Given the description of an element on the screen output the (x, y) to click on. 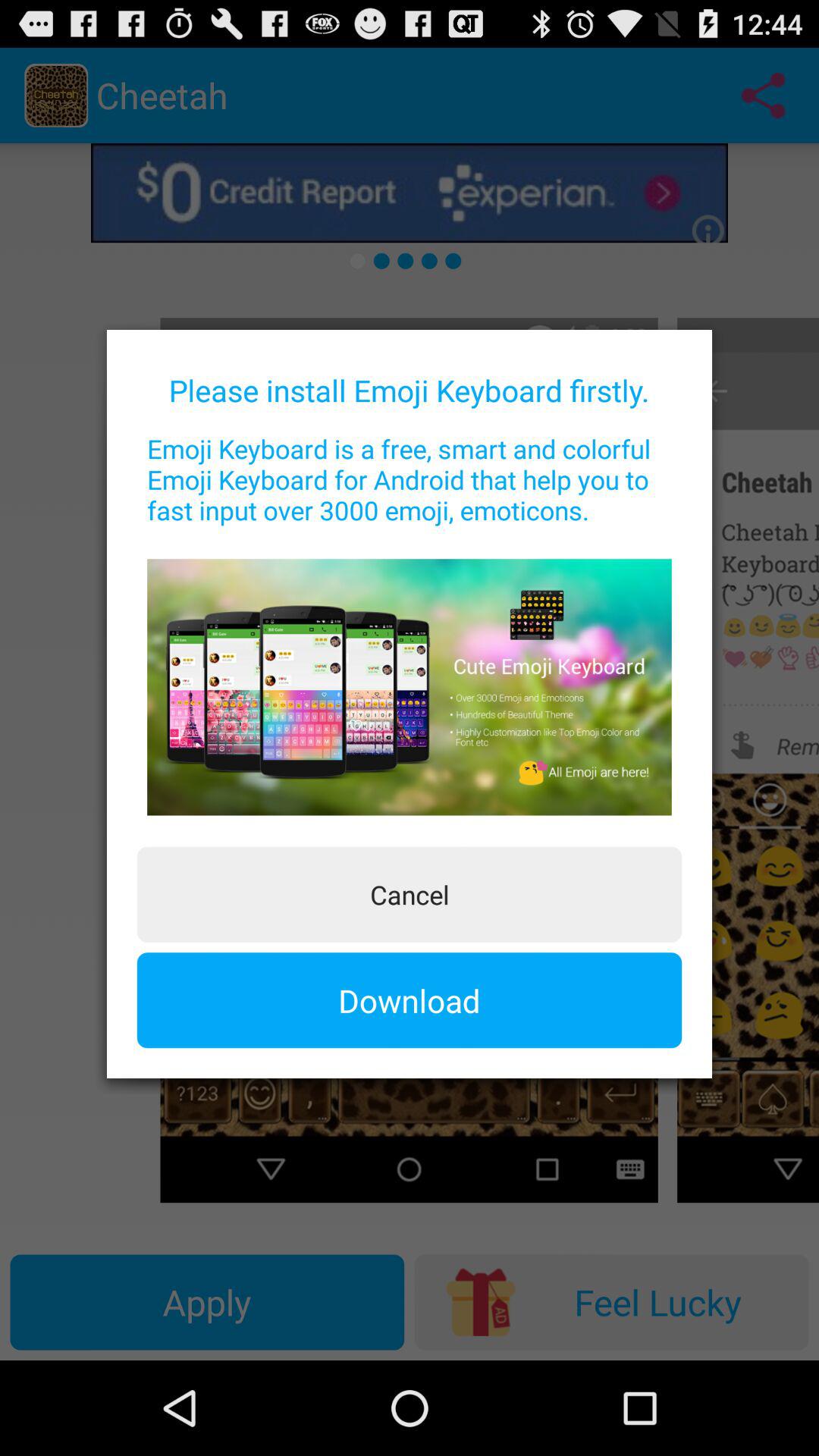
swipe until the cancel item (409, 894)
